Given the description of an element on the screen output the (x, y) to click on. 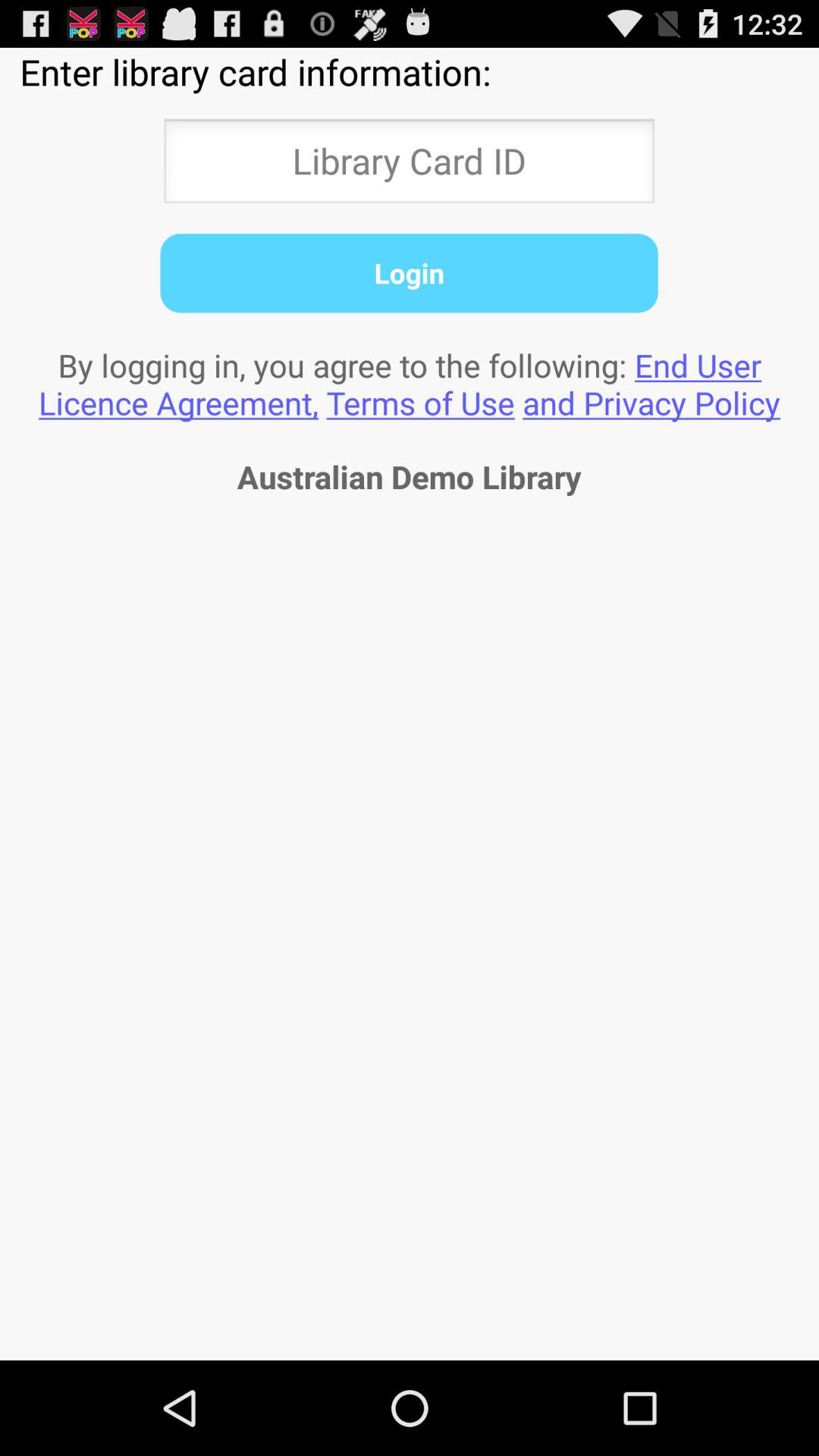
click login (409, 272)
